Given the description of an element on the screen output the (x, y) to click on. 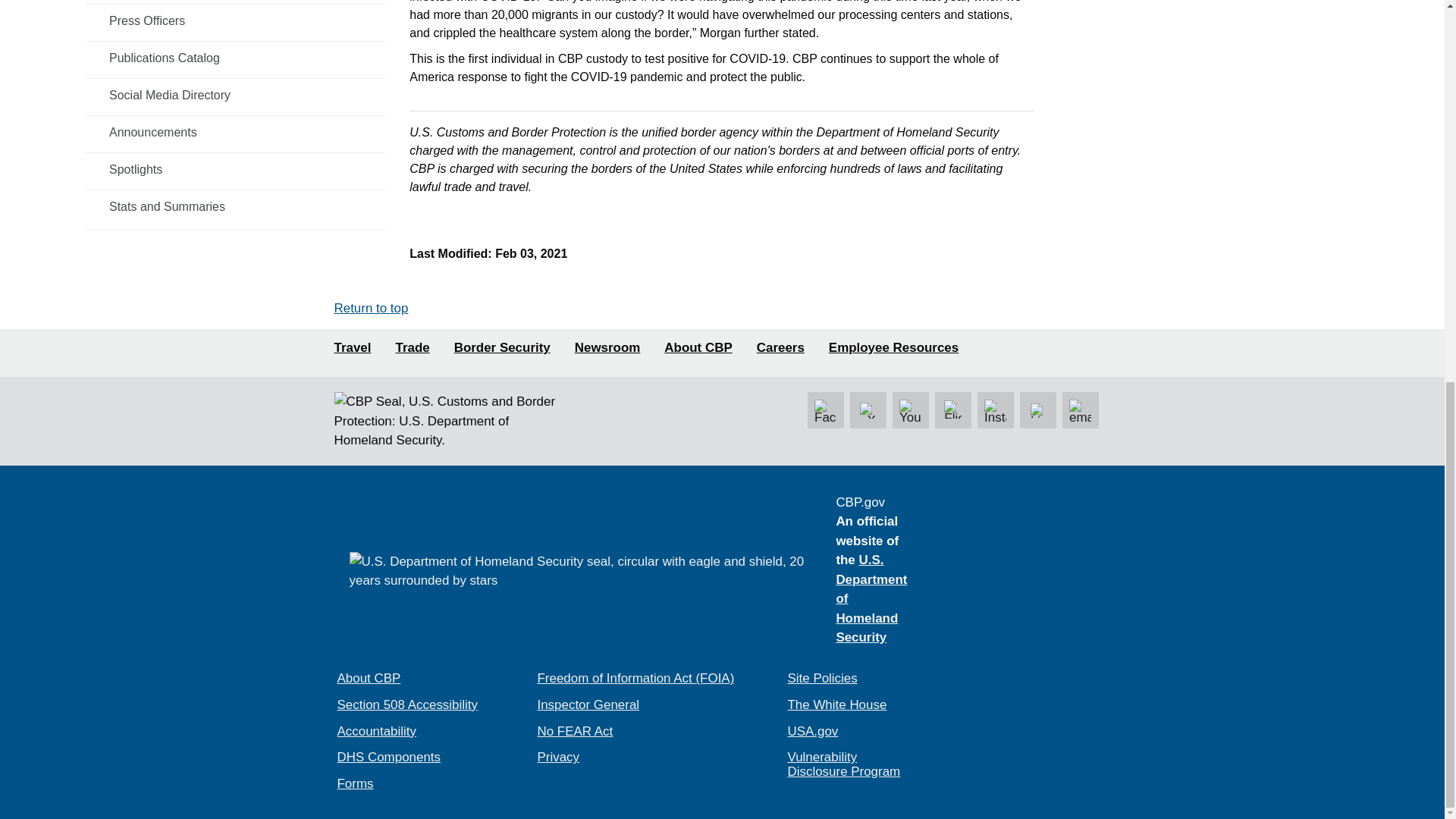
Publications Catalog (234, 58)
Careers (781, 348)
Travel (352, 348)
National Terrorism Advisory System (1022, 561)
About (697, 348)
Social Media Directory (234, 95)
Spotlights (234, 169)
Announcements (234, 132)
Stats and Summaries (234, 206)
Press Officers (234, 20)
Newsroom (607, 348)
Border Security (502, 348)
